Given the description of an element on the screen output the (x, y) to click on. 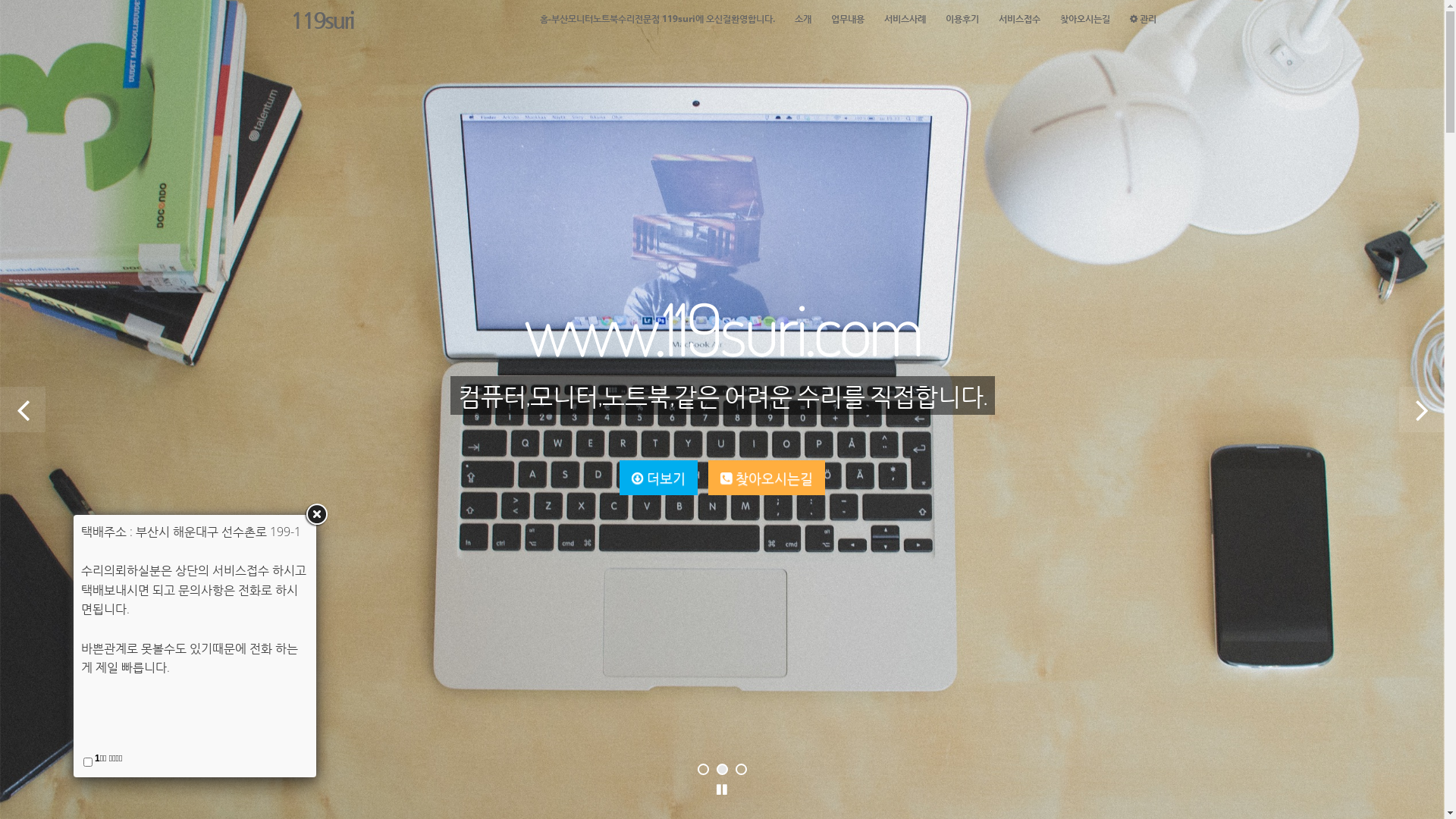
119suri Element type: text (321, 18)
on Element type: text (87, 761)
Close Element type: hover (315, 514)
